Given the description of an element on the screen output the (x, y) to click on. 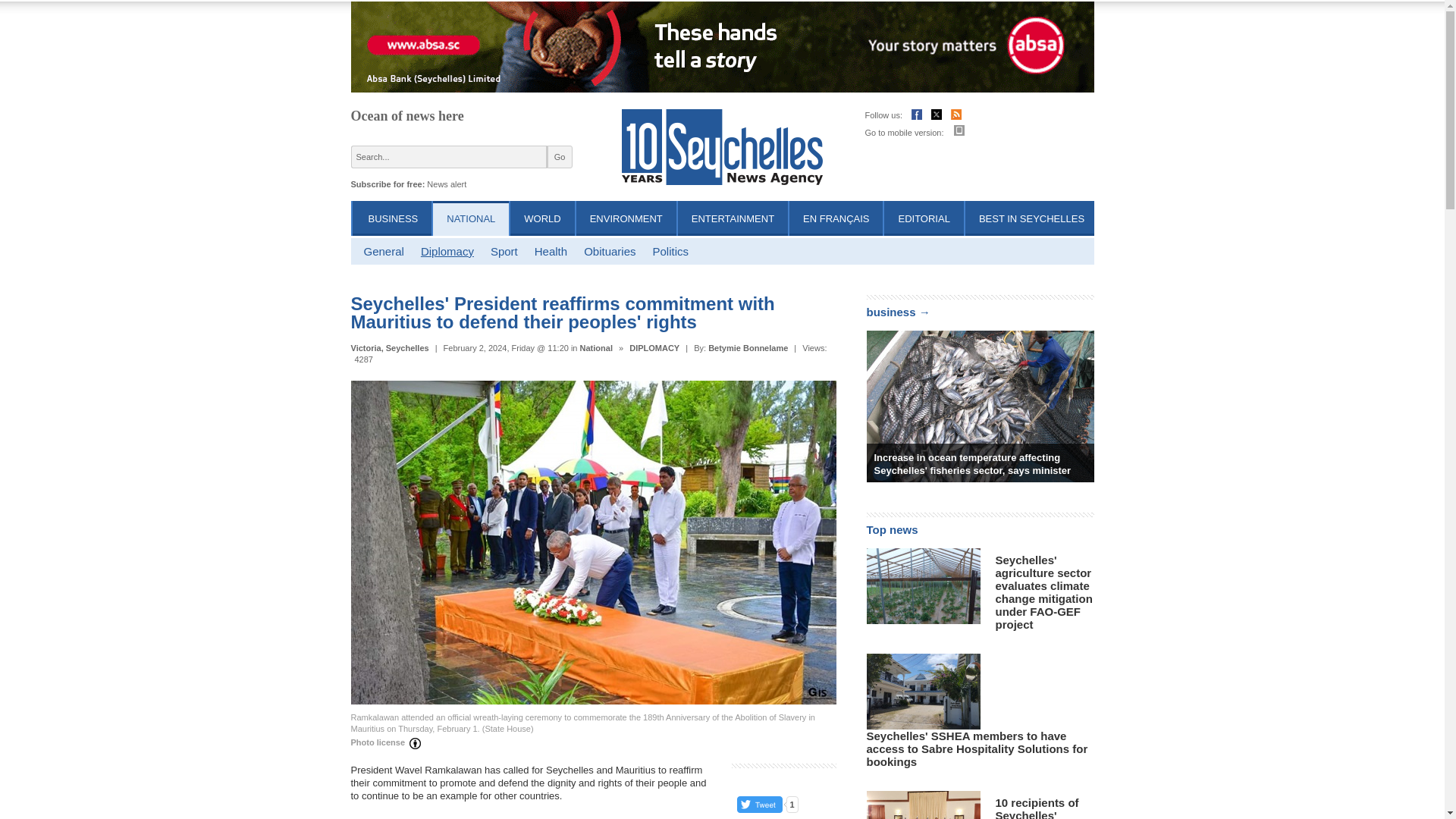
Go (559, 156)
National (595, 347)
BEST IN SEYCHELLES (1031, 218)
Go (559, 156)
Betymie Bonnelame (747, 347)
Photo license   (387, 743)
Entertainment (732, 218)
Seychelles Business News (393, 218)
Facebook (916, 116)
Diplomacy (447, 250)
Health (550, 250)
Obituaries (608, 250)
Editorial (923, 218)
Rss (955, 116)
